Given the description of an element on the screen output the (x, y) to click on. 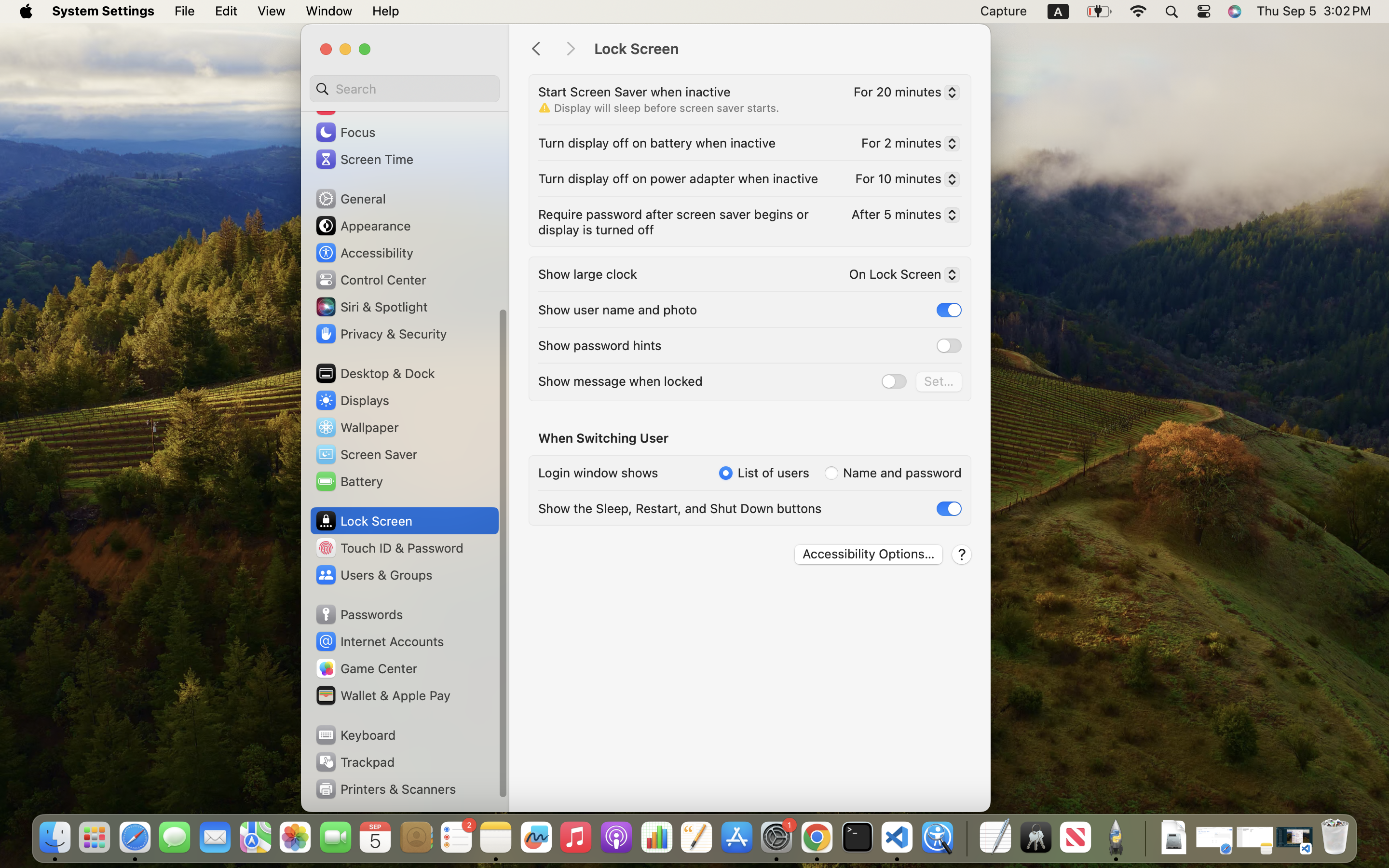
Start Screen Saver when inactive Element type: AXStaticText (634, 91)
Battery Element type: AXStaticText (348, 480)
Show message when locked Element type: AXStaticText (620, 380)
Internet Accounts Element type: AXStaticText (378, 640)
Game Center Element type: AXStaticText (365, 667)
